Given the description of an element on the screen output the (x, y) to click on. 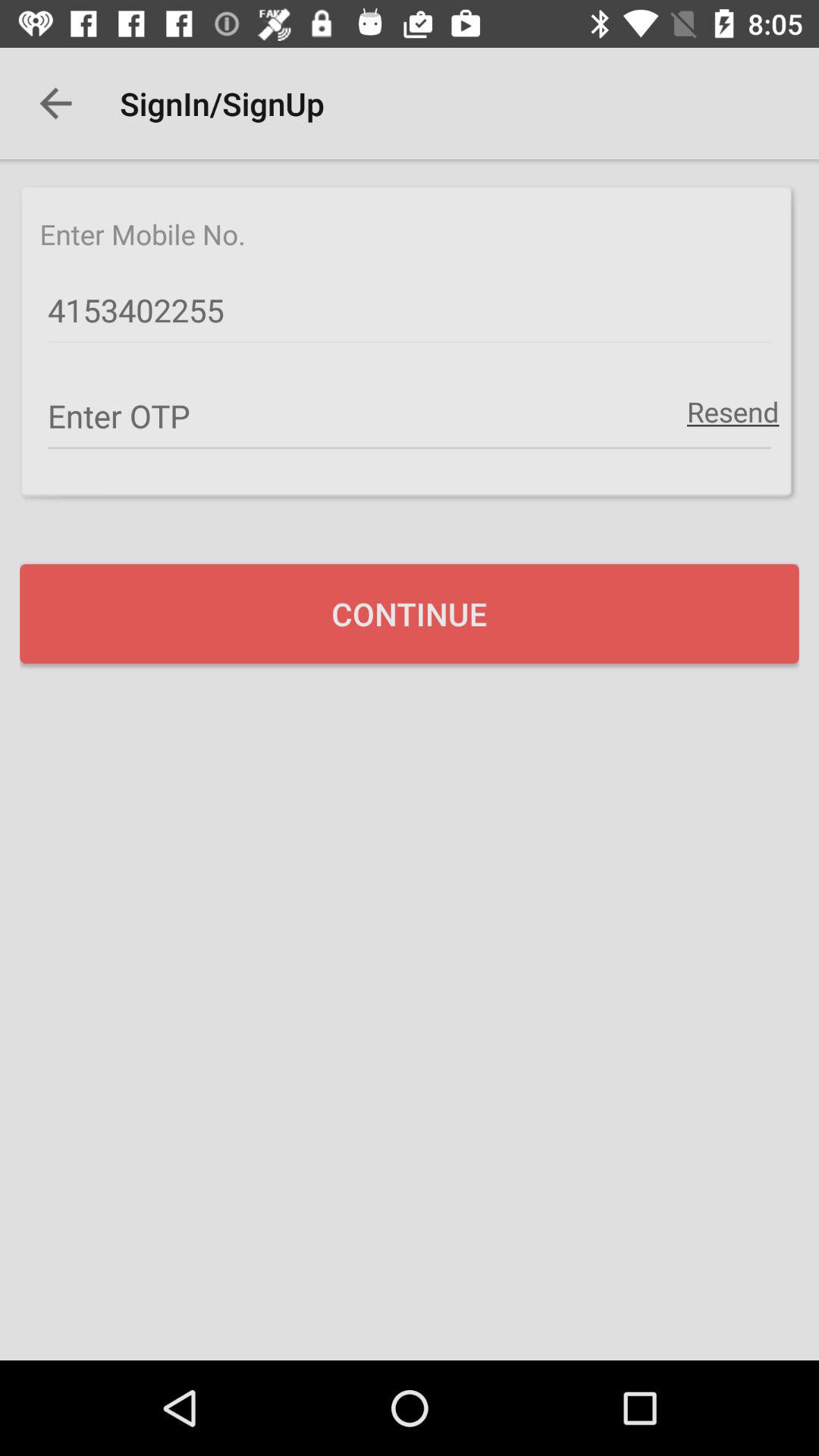
tap 4153402255 item (409, 310)
